Given the description of an element on the screen output the (x, y) to click on. 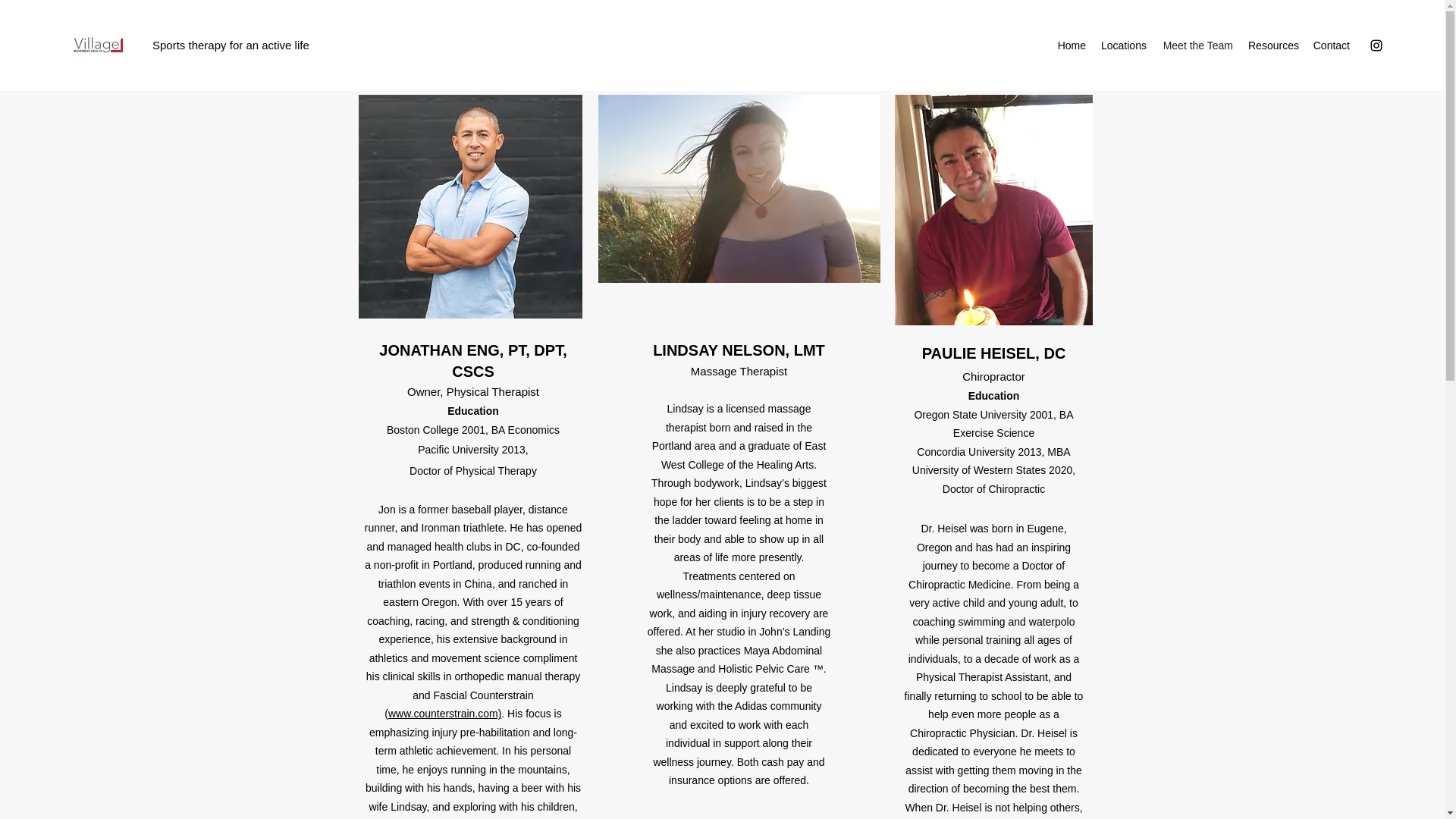
Contact (1330, 45)
Meet the Team (1196, 45)
Home (1071, 45)
Resources (1272, 45)
